Given the description of an element on the screen output the (x, y) to click on. 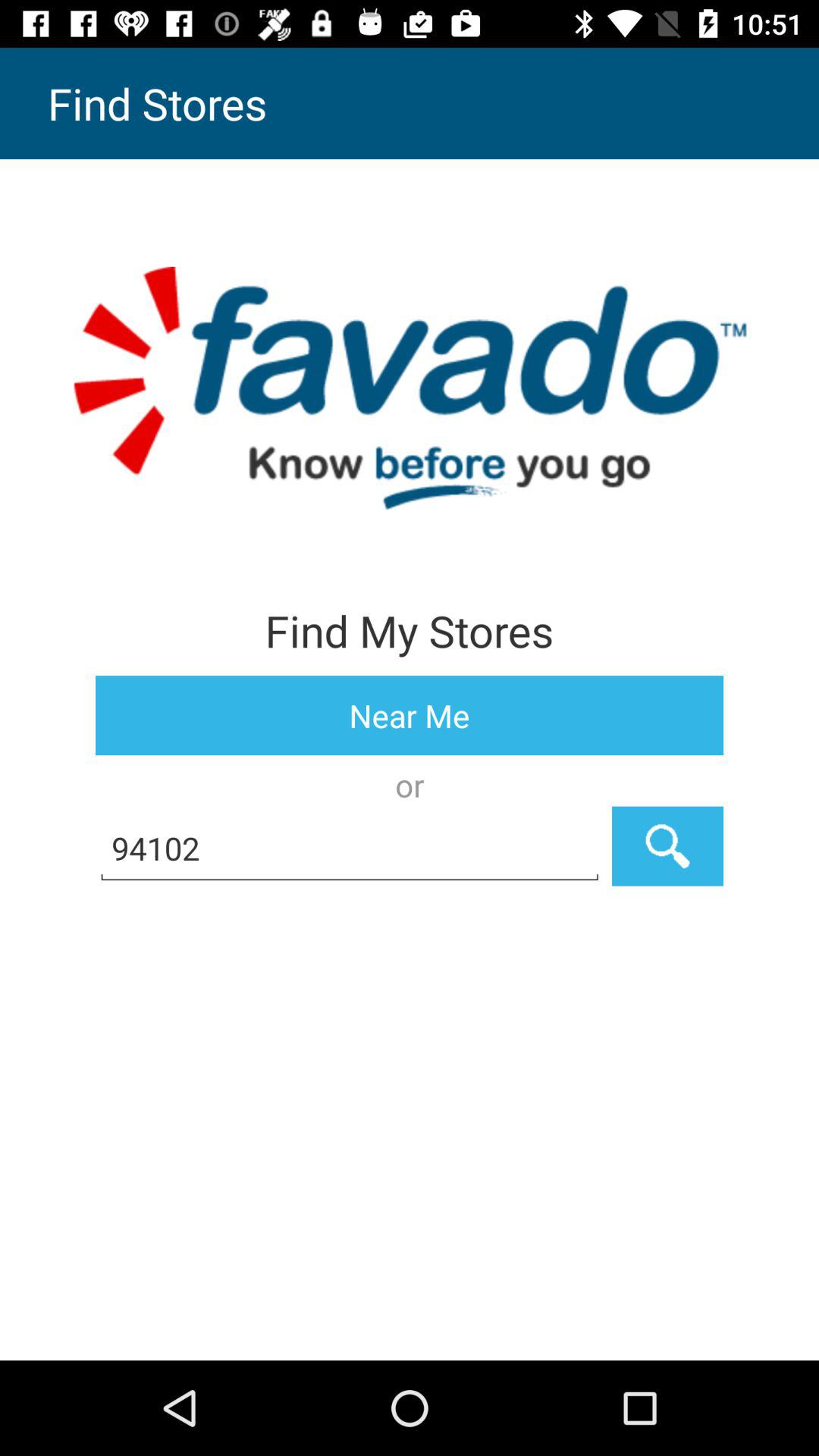
search (667, 846)
